Given the description of an element on the screen output the (x, y) to click on. 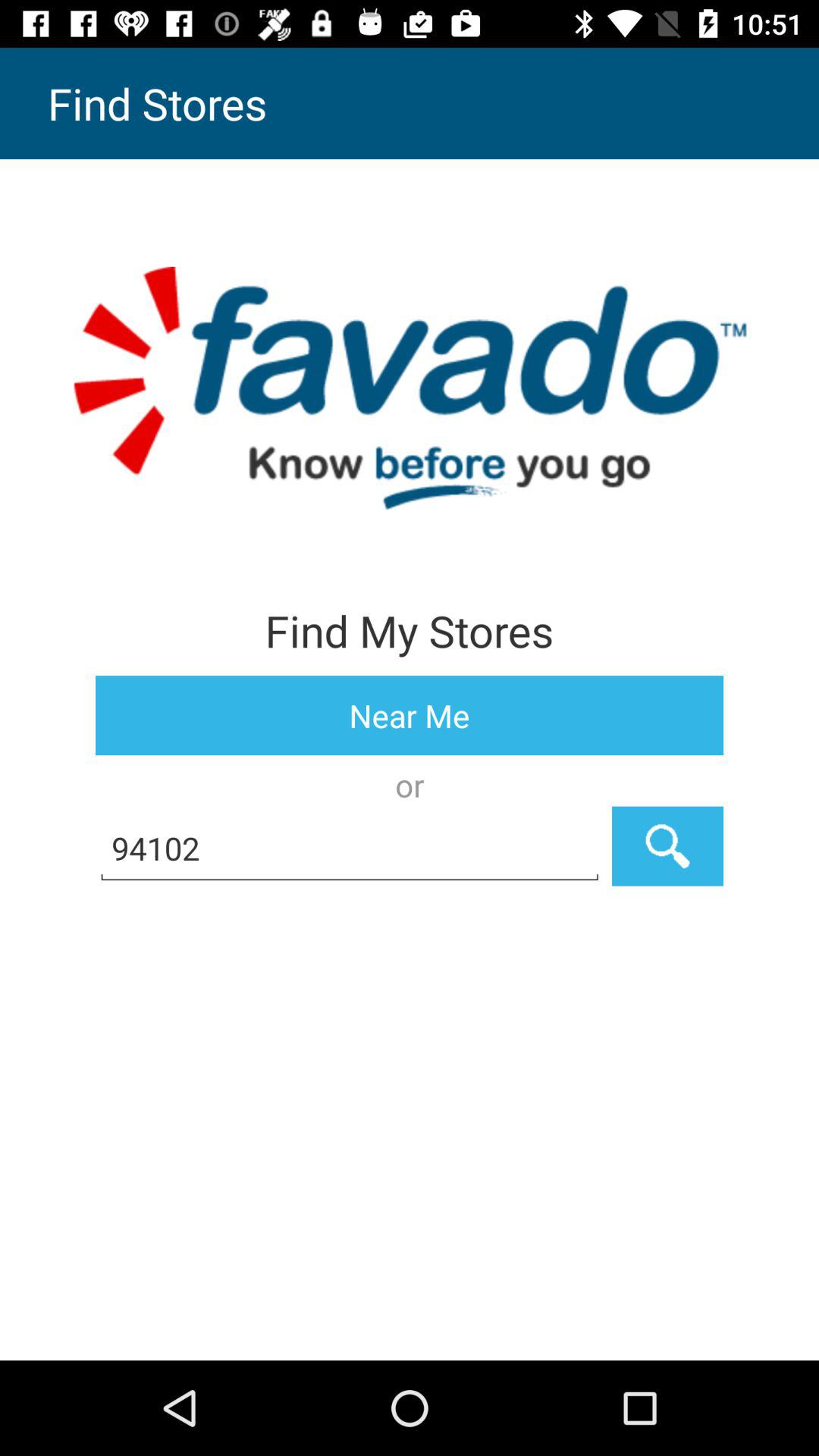
search (667, 846)
